Given the description of an element on the screen output the (x, y) to click on. 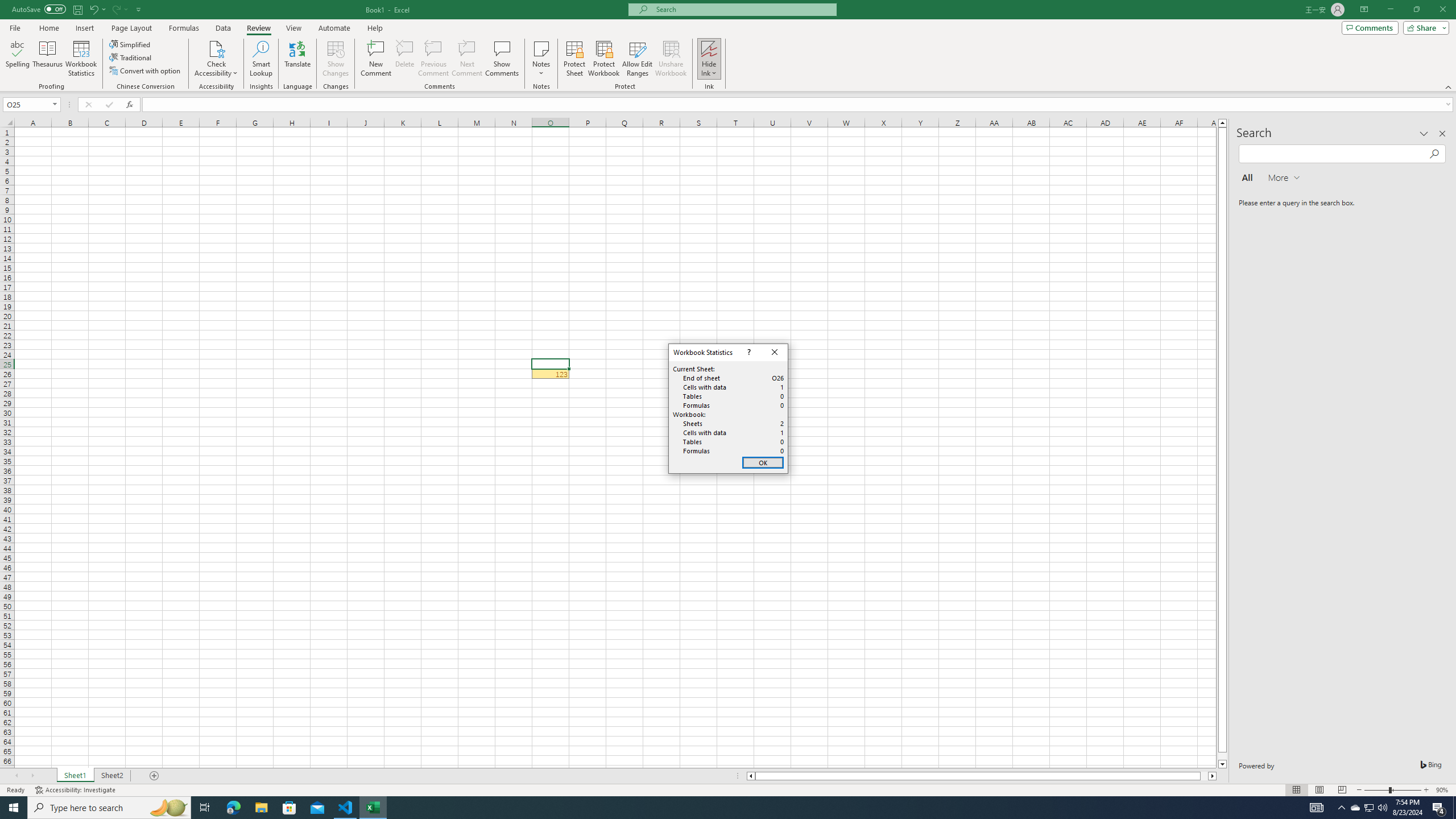
File Explorer (261, 807)
Accessibility Checker Accessibility: Investigate (76, 790)
Hide Ink (708, 48)
Customize Quick Access Toolbar (139, 9)
Formula Bar (799, 104)
Convert with option (145, 69)
Close pane (1441, 133)
Class: NetUIScrollBar (981, 775)
Ribbon Display Options (1364, 9)
Show Comments (501, 58)
Class: MsoCommandBar (728, 45)
Running applications (717, 807)
Unshare Workbook (670, 58)
Show desktop (1454, 807)
